Given the description of an element on the screen output the (x, y) to click on. 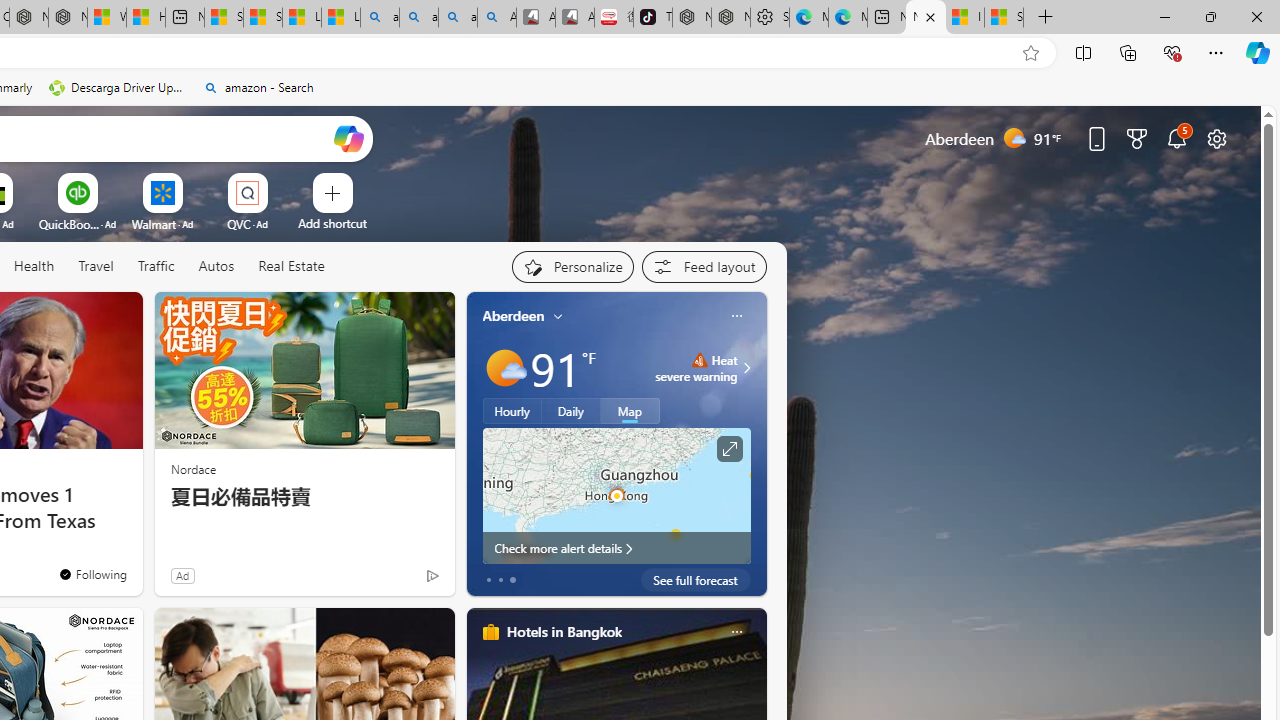
Feed settings (703, 266)
Heat - Severe Heat severe warning (696, 367)
Click to see more information (728, 449)
hotels-header-icon (490, 632)
Aberdeen (513, 315)
Page settings (1216, 138)
